Given the description of an element on the screen output the (x, y) to click on. 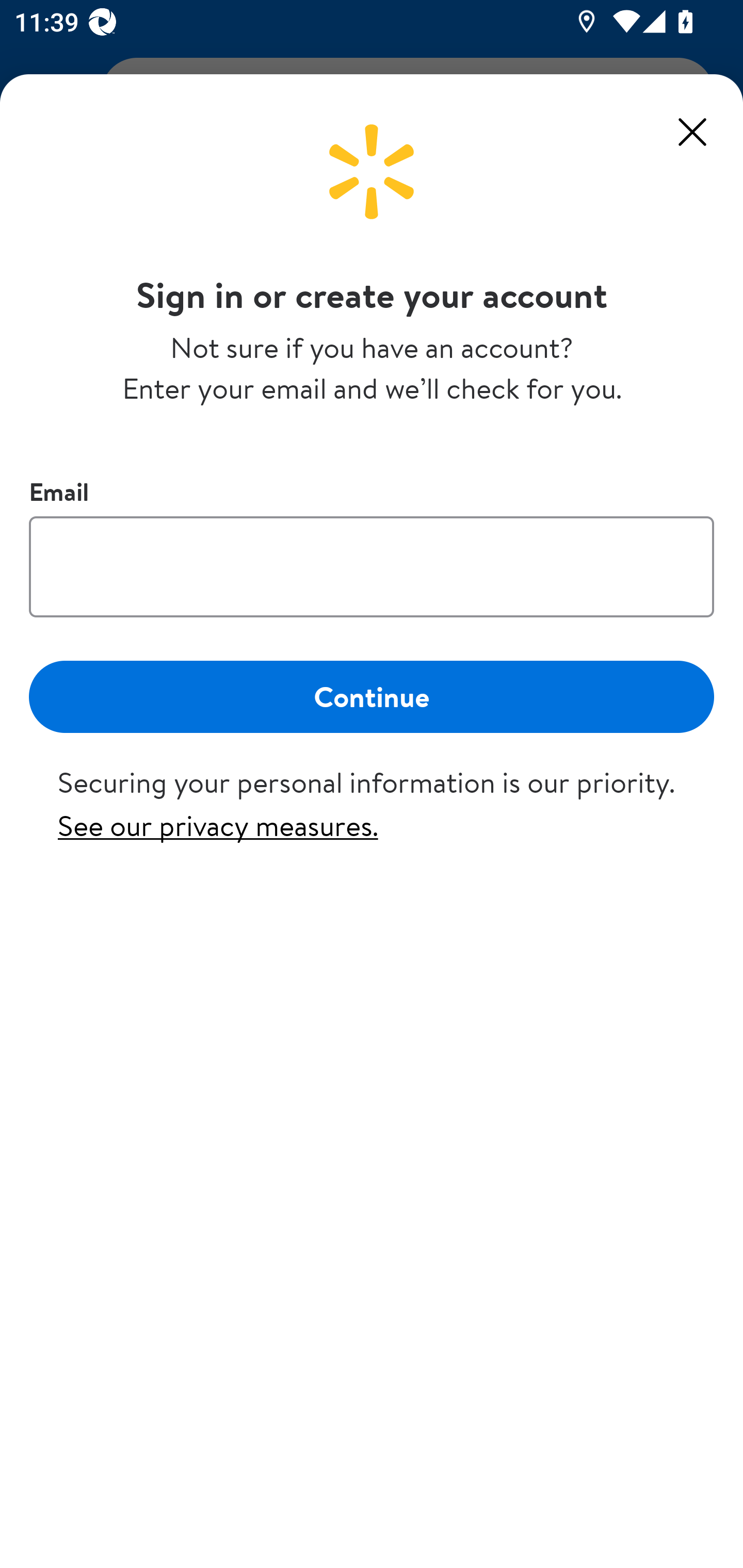
Close (692, 131)
Email (371, 566)
Continue (371, 696)
